Given the description of an element on the screen output the (x, y) to click on. 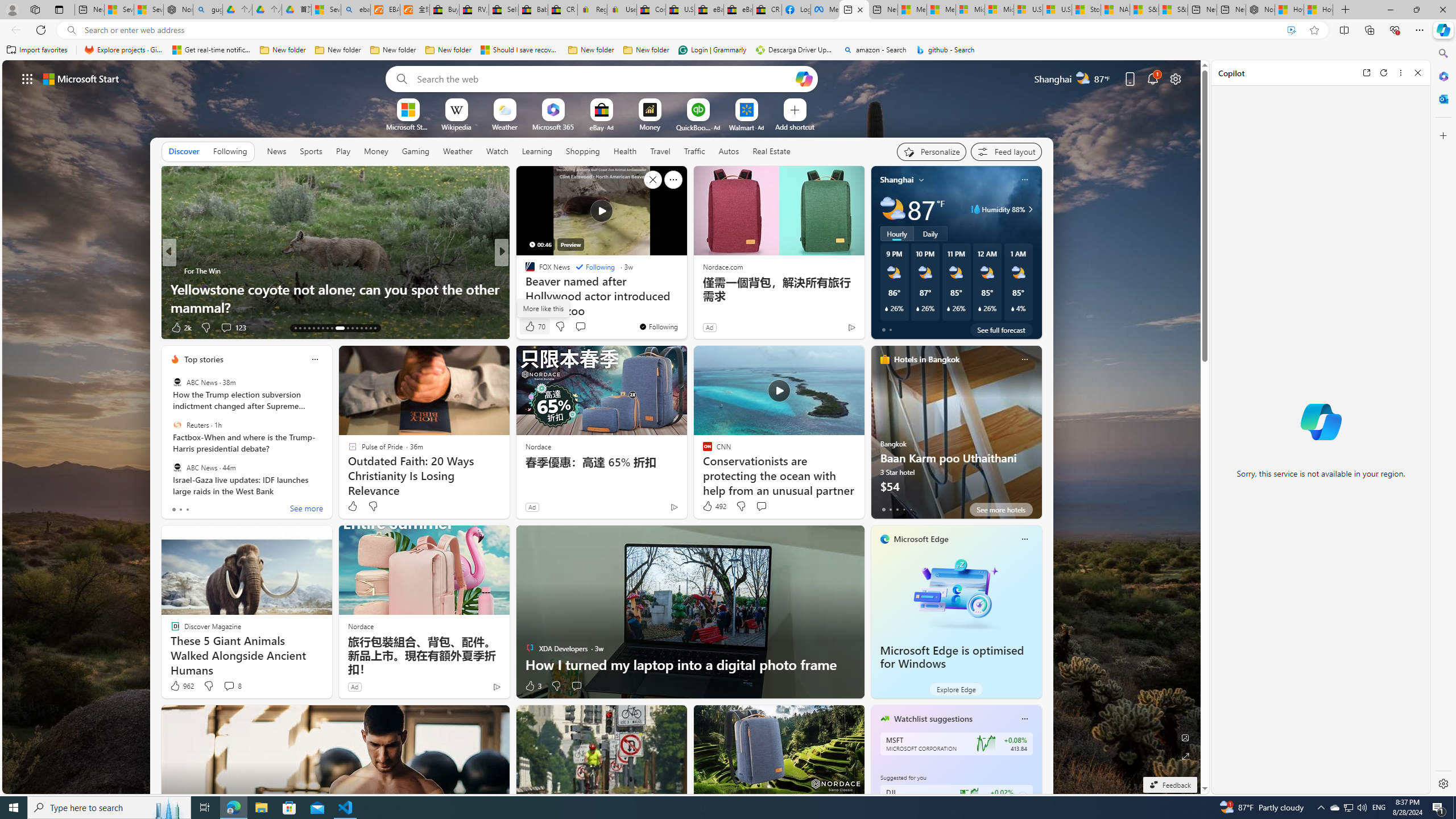
U.S. State Privacy Disclosures - eBay Inc. (679, 9)
Side bar (1443, 418)
tab-1 (889, 509)
AutomationID: tab-33 (366, 328)
World Map Quiz: Can You Name These 20 Countries? (684, 307)
Enhance video (1291, 29)
tab-2 (897, 509)
